Given the description of an element on the screen output the (x, y) to click on. 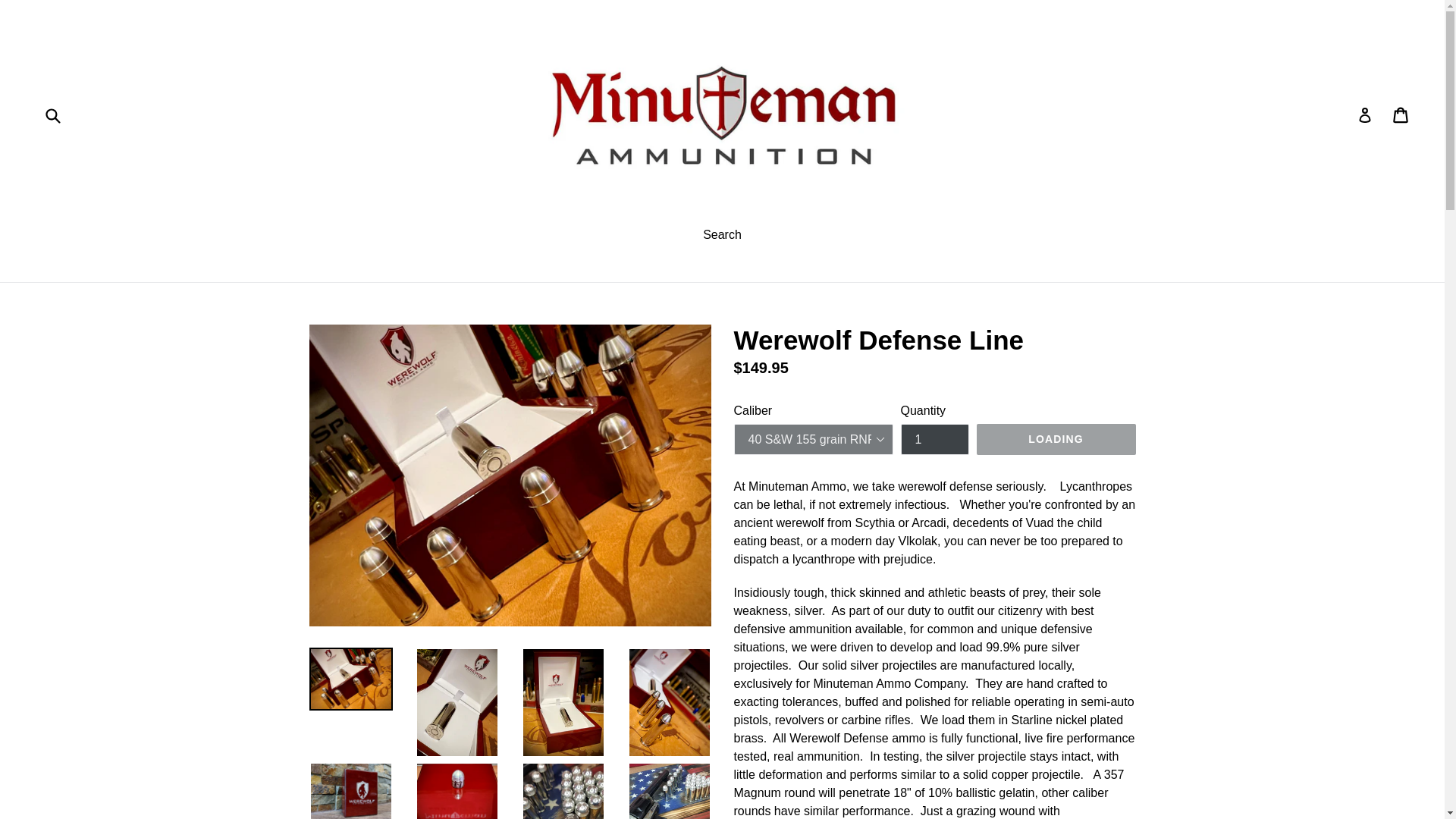
LOADING (1055, 439)
Submit (52, 114)
1 (935, 439)
Search (722, 236)
Log in (1401, 114)
